Given the description of an element on the screen output the (x, y) to click on. 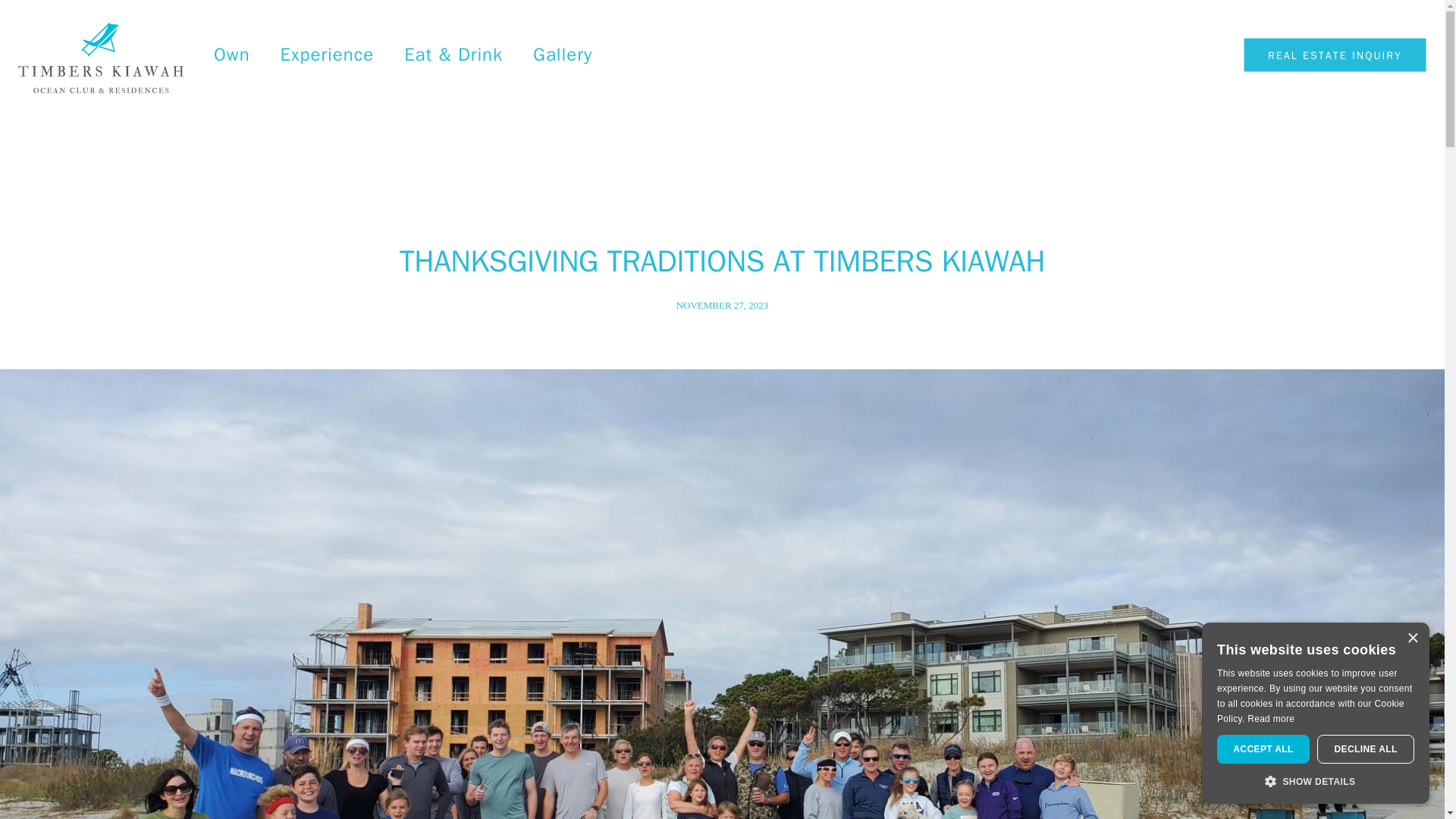
Own (232, 55)
REAL ESTATE INQUIRY (1334, 54)
Gallery (562, 55)
Experience (327, 55)
